Given the description of an element on the screen output the (x, y) to click on. 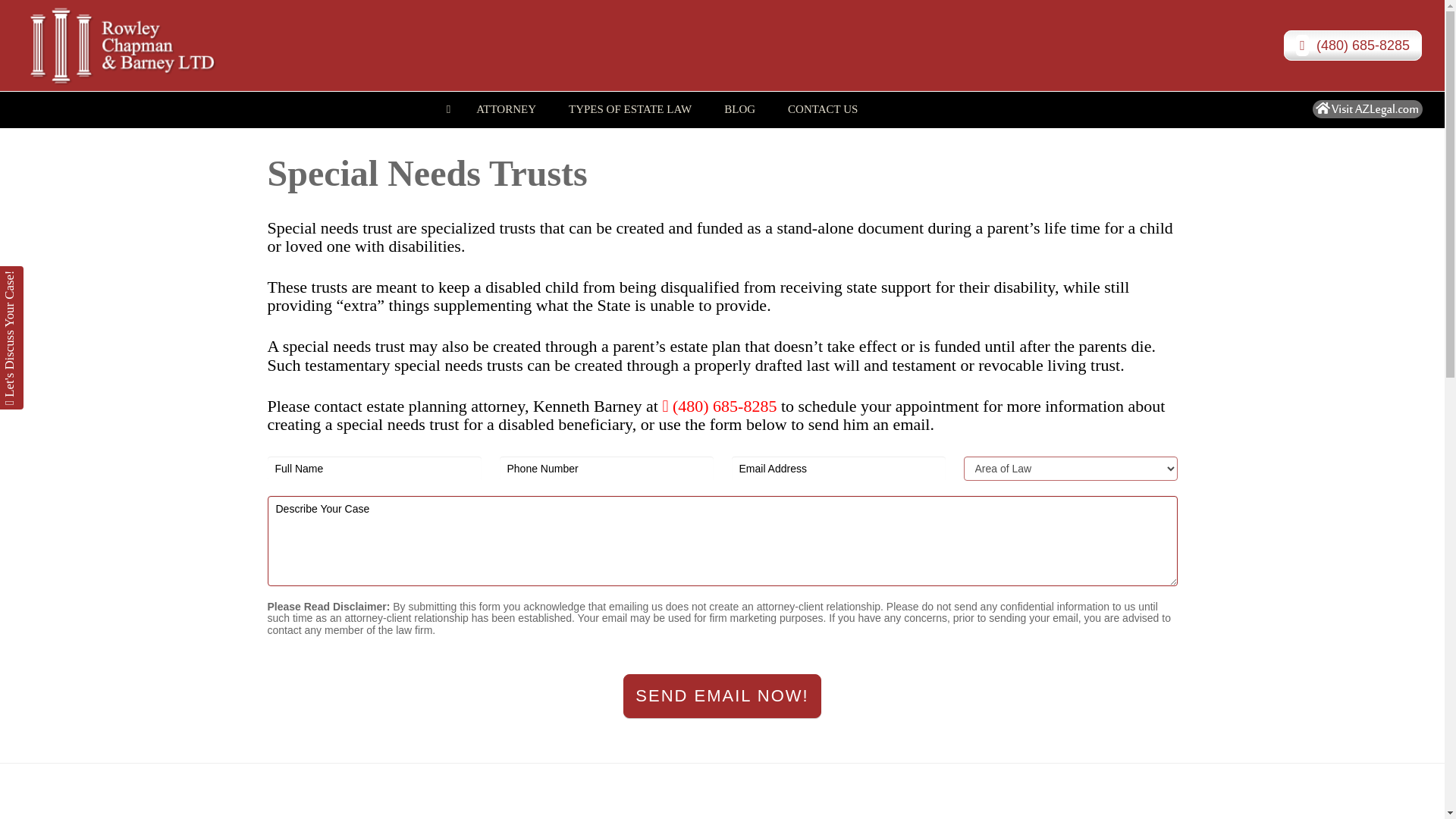
CONTACT US (822, 101)
BLOG (722, 109)
TYPES OF ESTATE LAW (739, 101)
Estate Planning Home (630, 101)
AZ LEGAL (448, 109)
ATTORNEY (147, 45)
SEND EMAIL NOW! (505, 101)
